Given the description of an element on the screen output the (x, y) to click on. 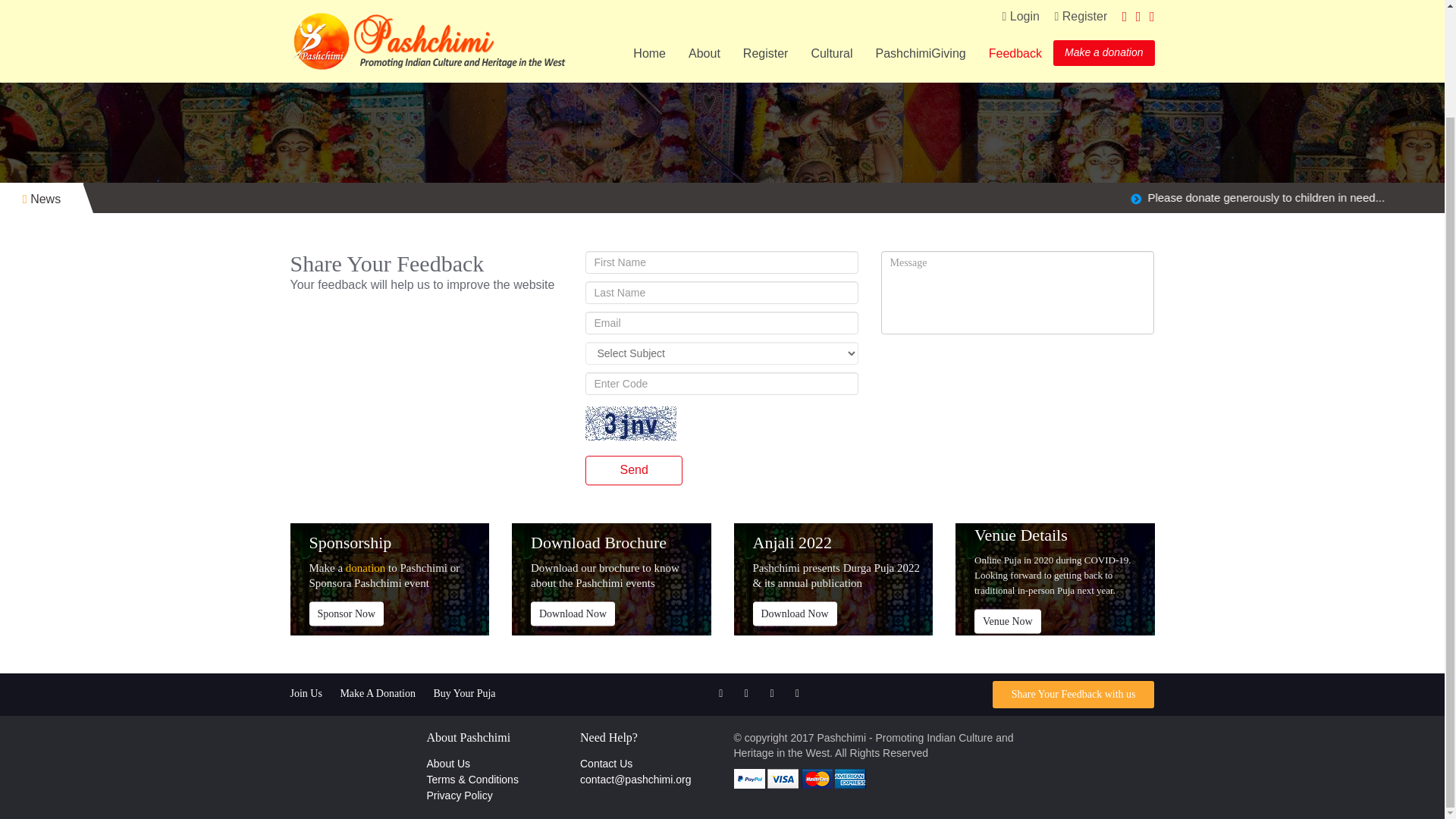
Sponsor Now (346, 613)
Send (633, 470)
donation (365, 567)
About Us (448, 763)
Download Now (572, 613)
Venue Now (1007, 621)
Download Now (793, 613)
Contact Us (605, 763)
Join Us (305, 693)
Share Your Feedback with us (1073, 694)
